Given the description of an element on the screen output the (x, y) to click on. 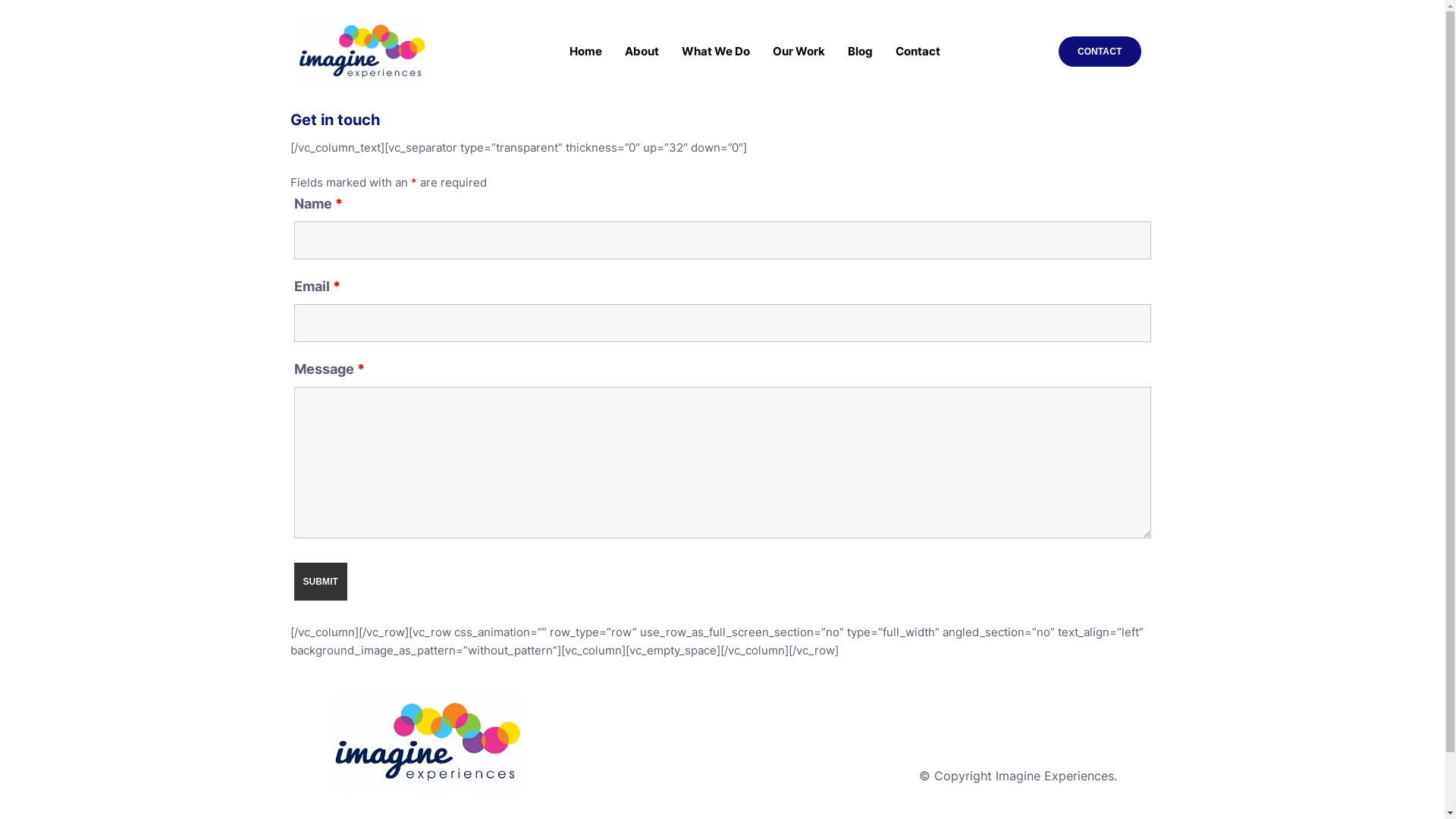
Blog Element type: text (860, 51)
Our Work Element type: text (798, 51)
Home Element type: text (585, 51)
CONTACT Element type: text (1099, 51)
Contact Element type: text (917, 51)
What We Do Element type: text (715, 51)
About Element type: text (641, 51)
Submit Element type: text (321, 581)
